Given the description of an element on the screen output the (x, y) to click on. 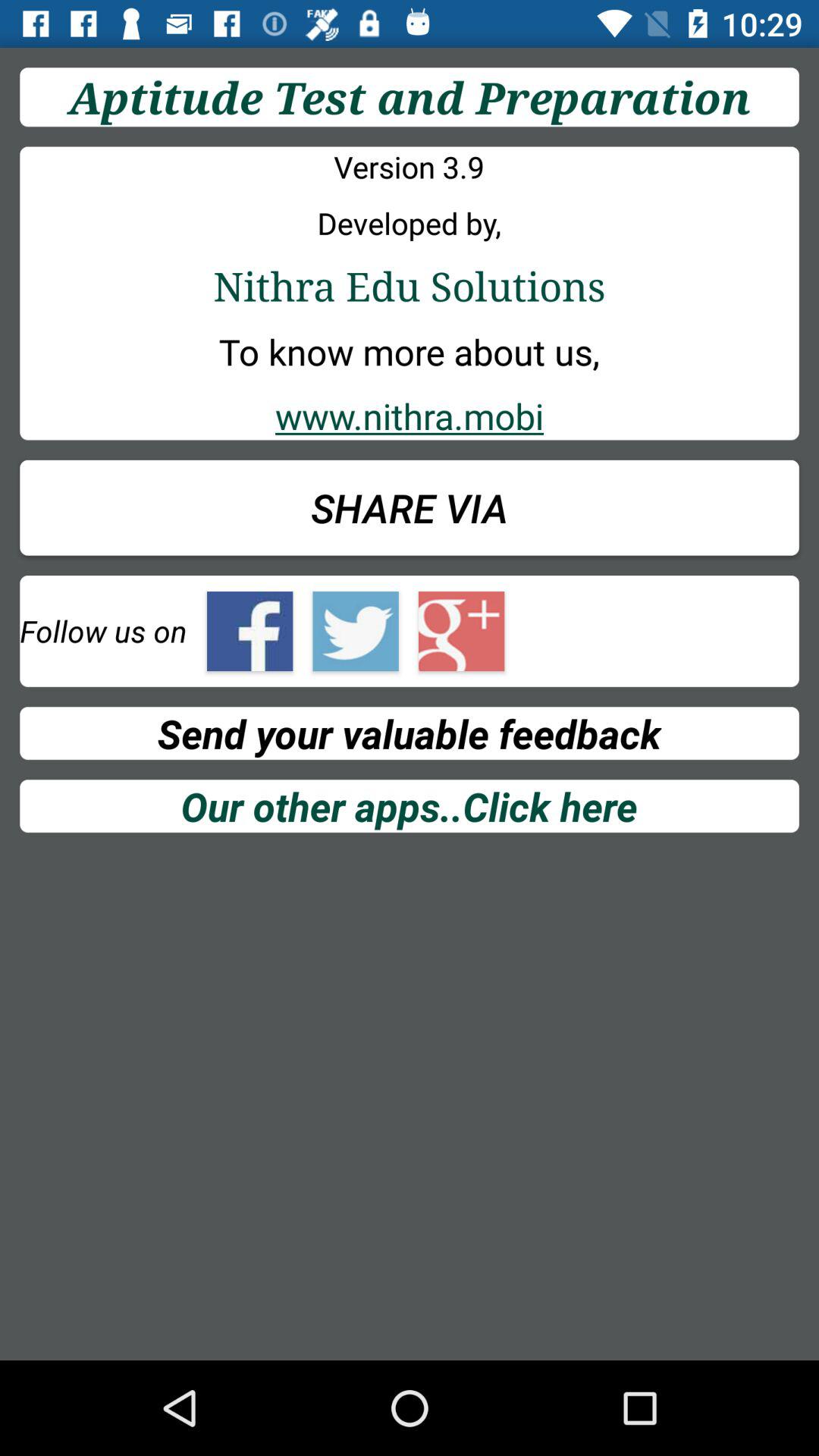
share on facebook (249, 631)
